Given the description of an element on the screen output the (x, y) to click on. 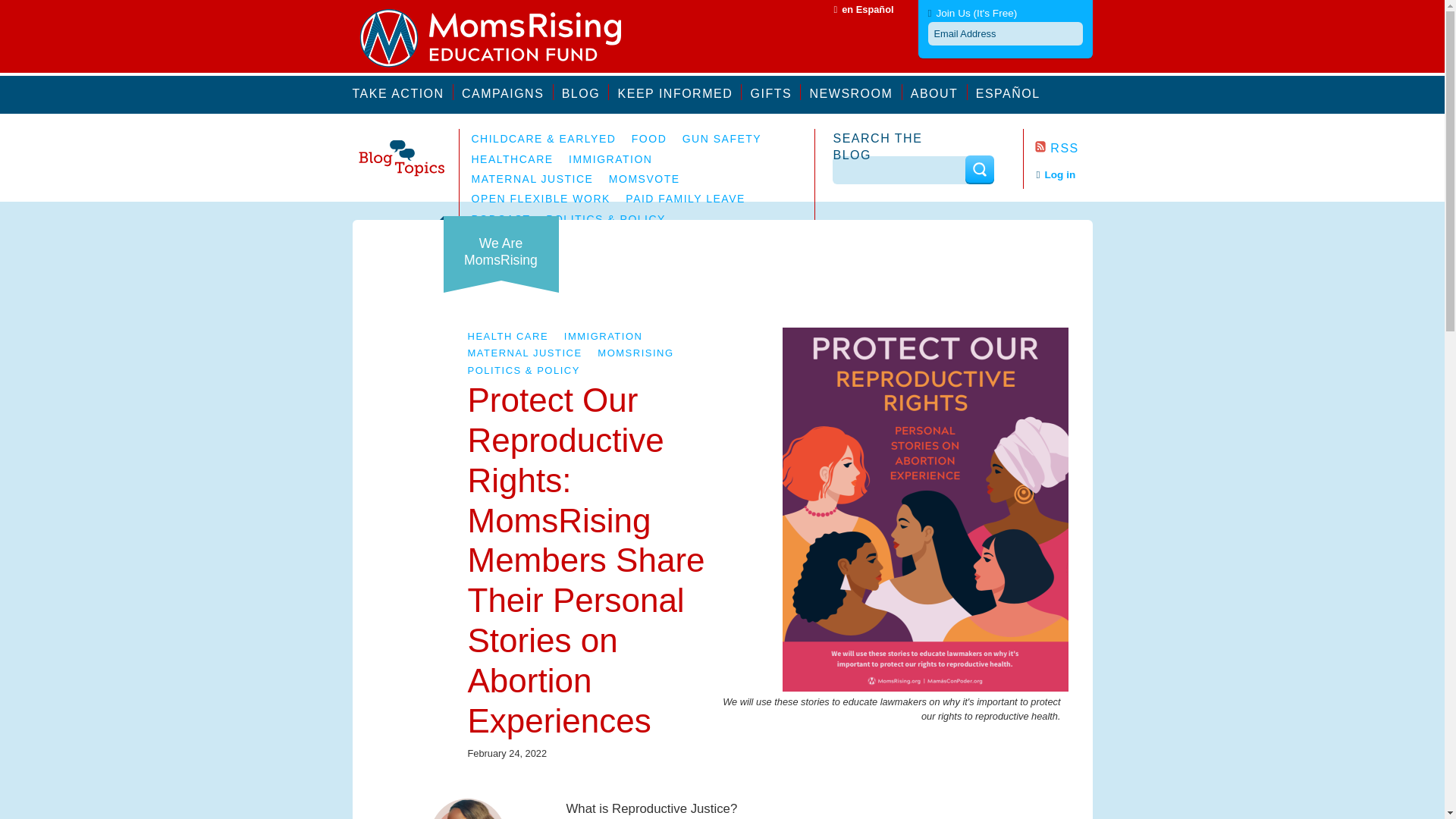
KEEP INFORMED (679, 91)
Important press releases, statements, and media highlights (855, 91)
IMMIGRATION (610, 159)
ABOUT (939, 91)
PODCAST (501, 218)
NEWSROOM (855, 91)
IMMIGRATION (603, 336)
MATERNAL JUSTICE (523, 353)
Learn more about our work and get involved (507, 91)
GIFTS (776, 91)
Email Address (1005, 33)
OPEN FLEXIBLE WORK (540, 198)
Search (978, 169)
RSS (1055, 147)
